Given the description of an element on the screen output the (x, y) to click on. 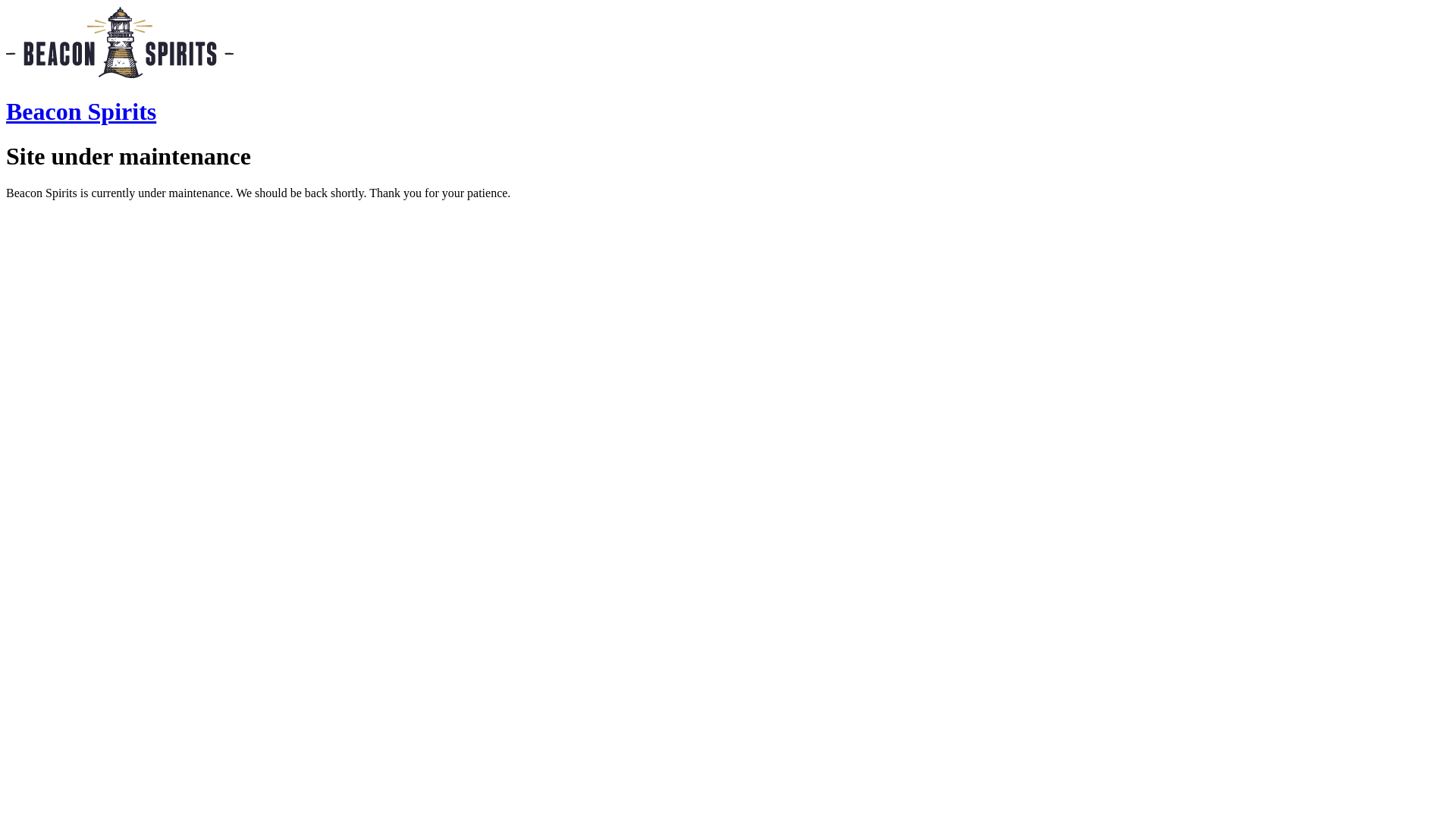
Home Element type: hover (119, 74)
Beacon Spirits Element type: text (81, 111)
